Given the description of an element on the screen output the (x, y) to click on. 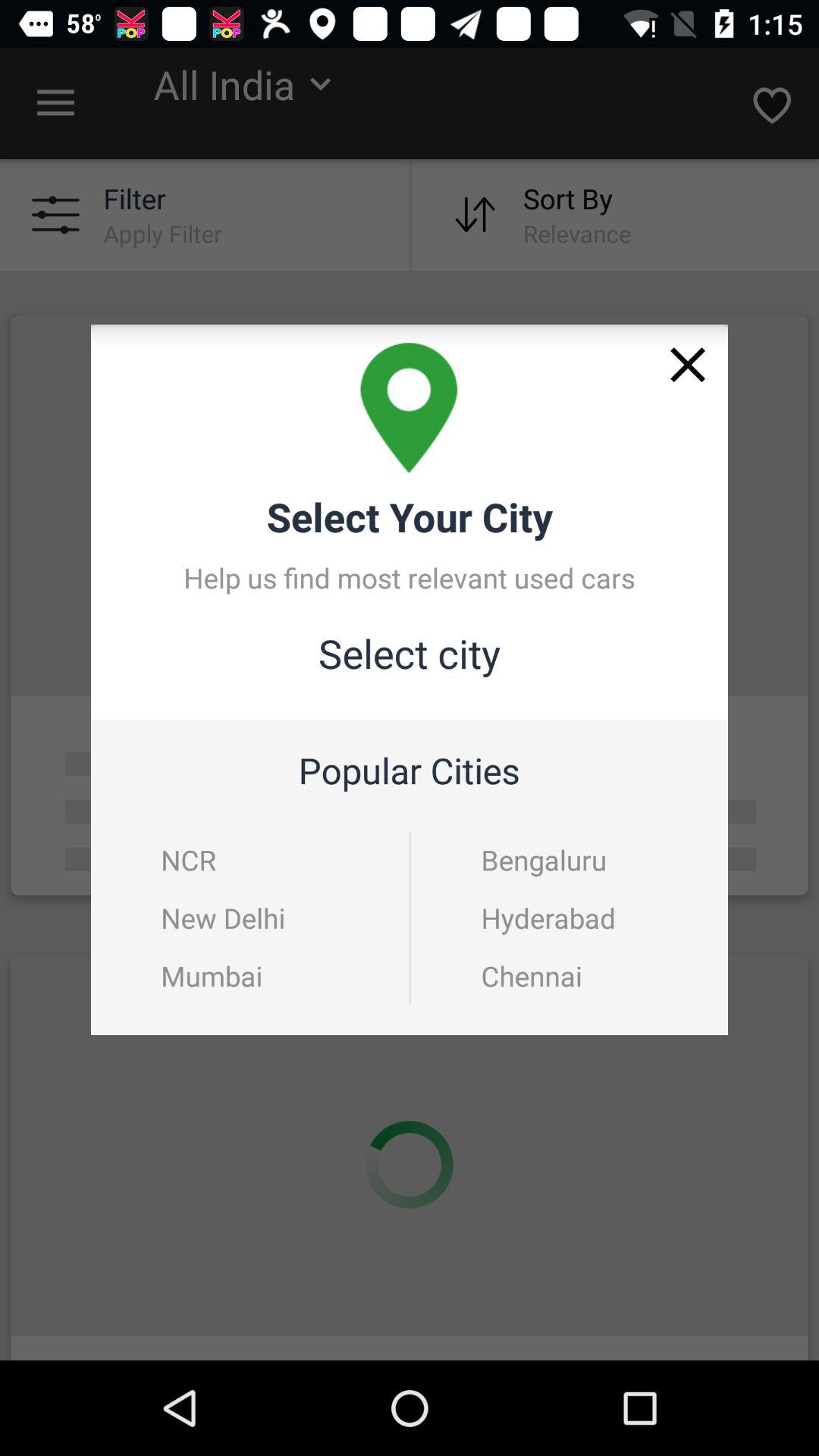
jump to new delhi item (222, 917)
